Given the description of an element on the screen output the (x, y) to click on. 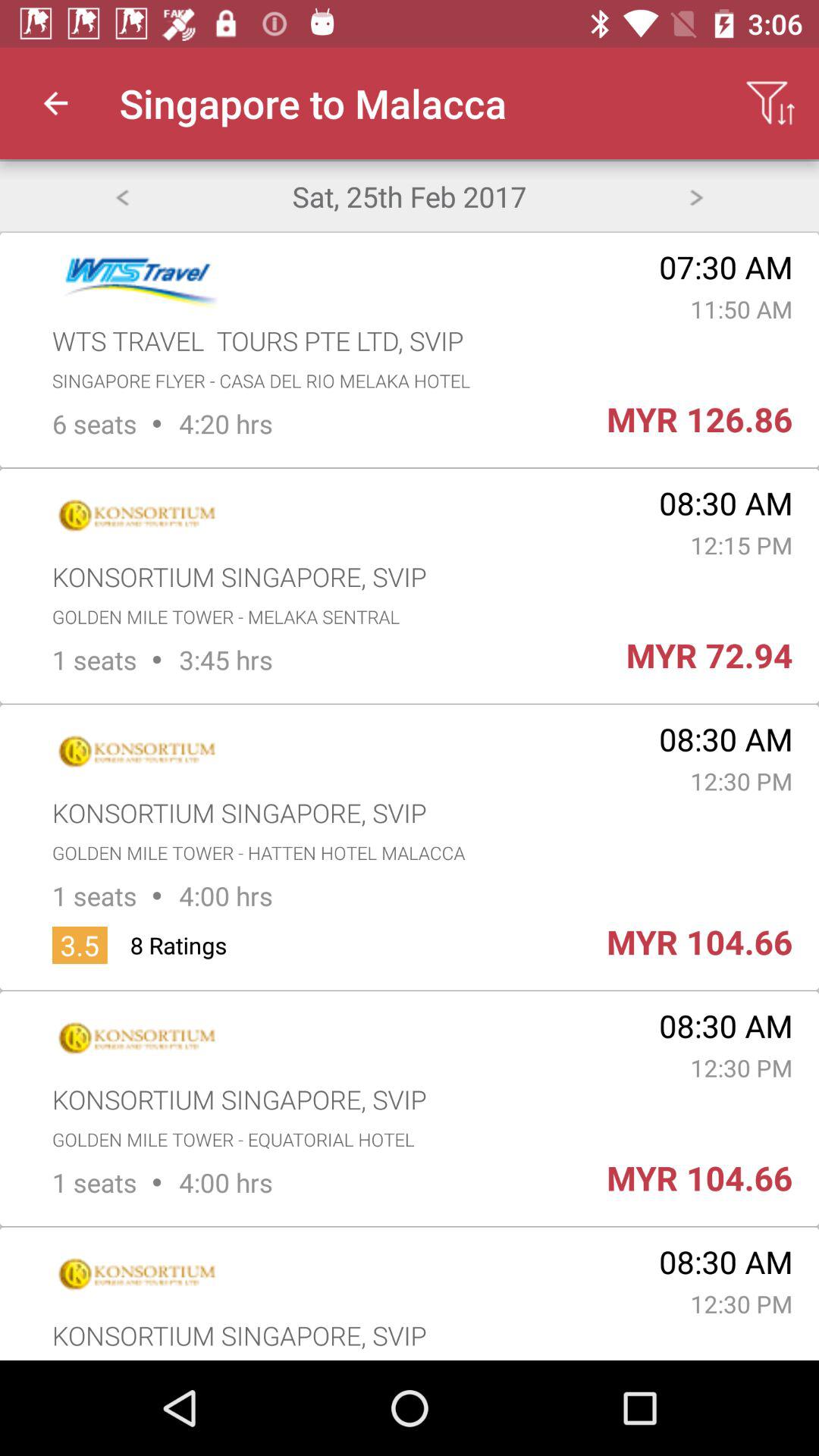
press item next to the sat 25th feb item (121, 196)
